Given the description of an element on the screen output the (x, y) to click on. 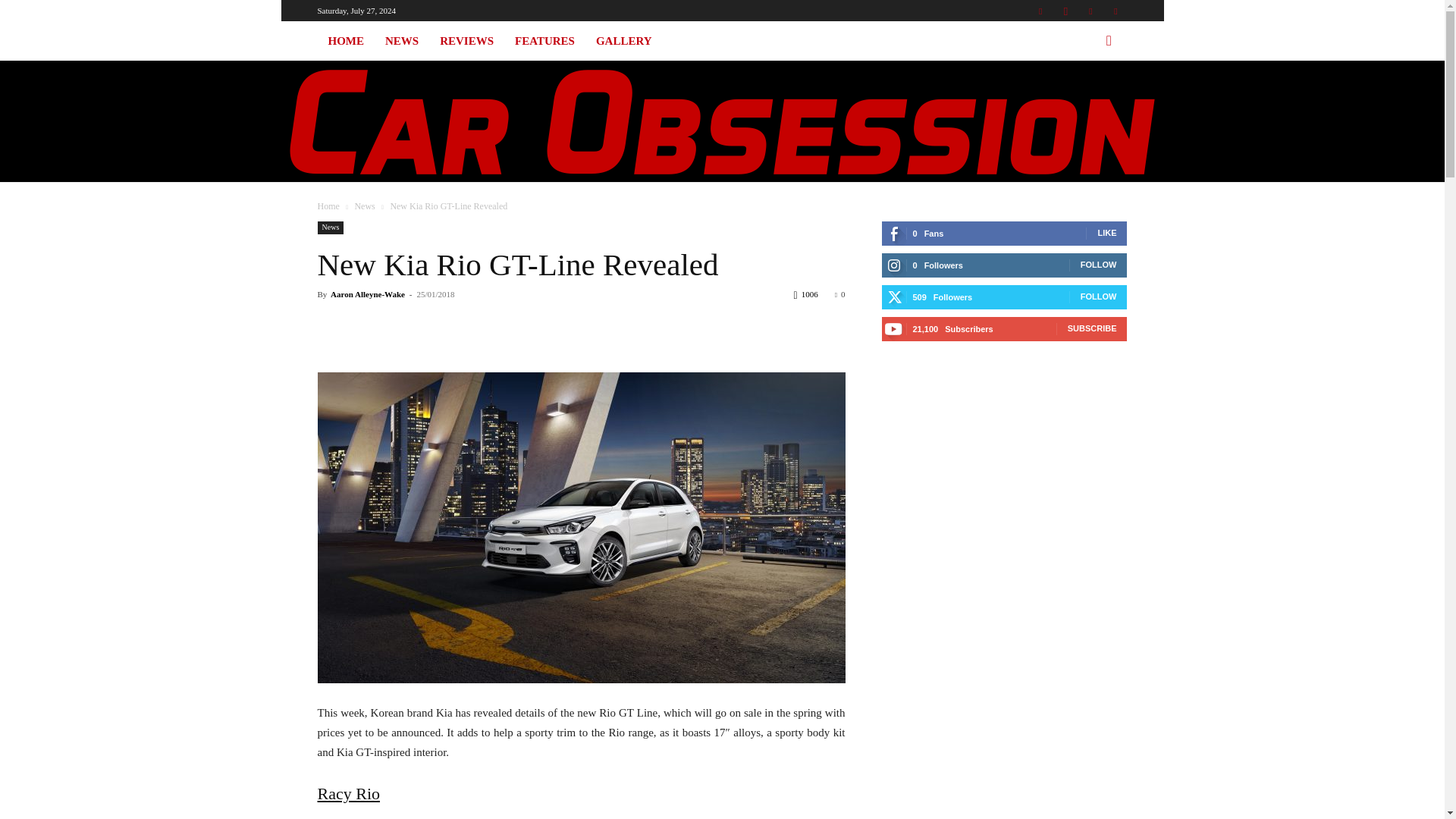
Twitter (1090, 10)
Youtube (1114, 10)
NEWS (401, 40)
HOME (345, 40)
Instagram (1065, 10)
Facebook (1040, 10)
